Given the description of an element on the screen output the (x, y) to click on. 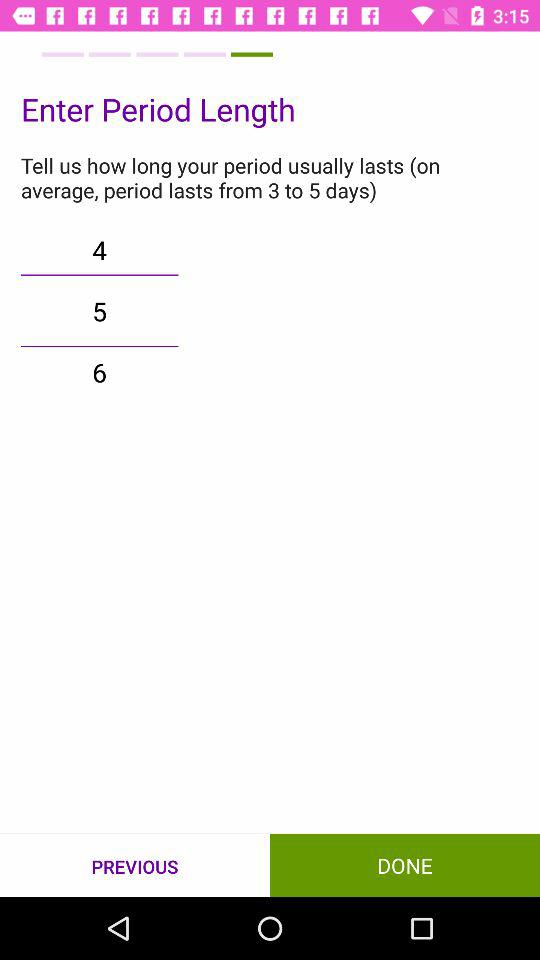
turn off previous item (135, 865)
